Given the description of an element on the screen output the (x, y) to click on. 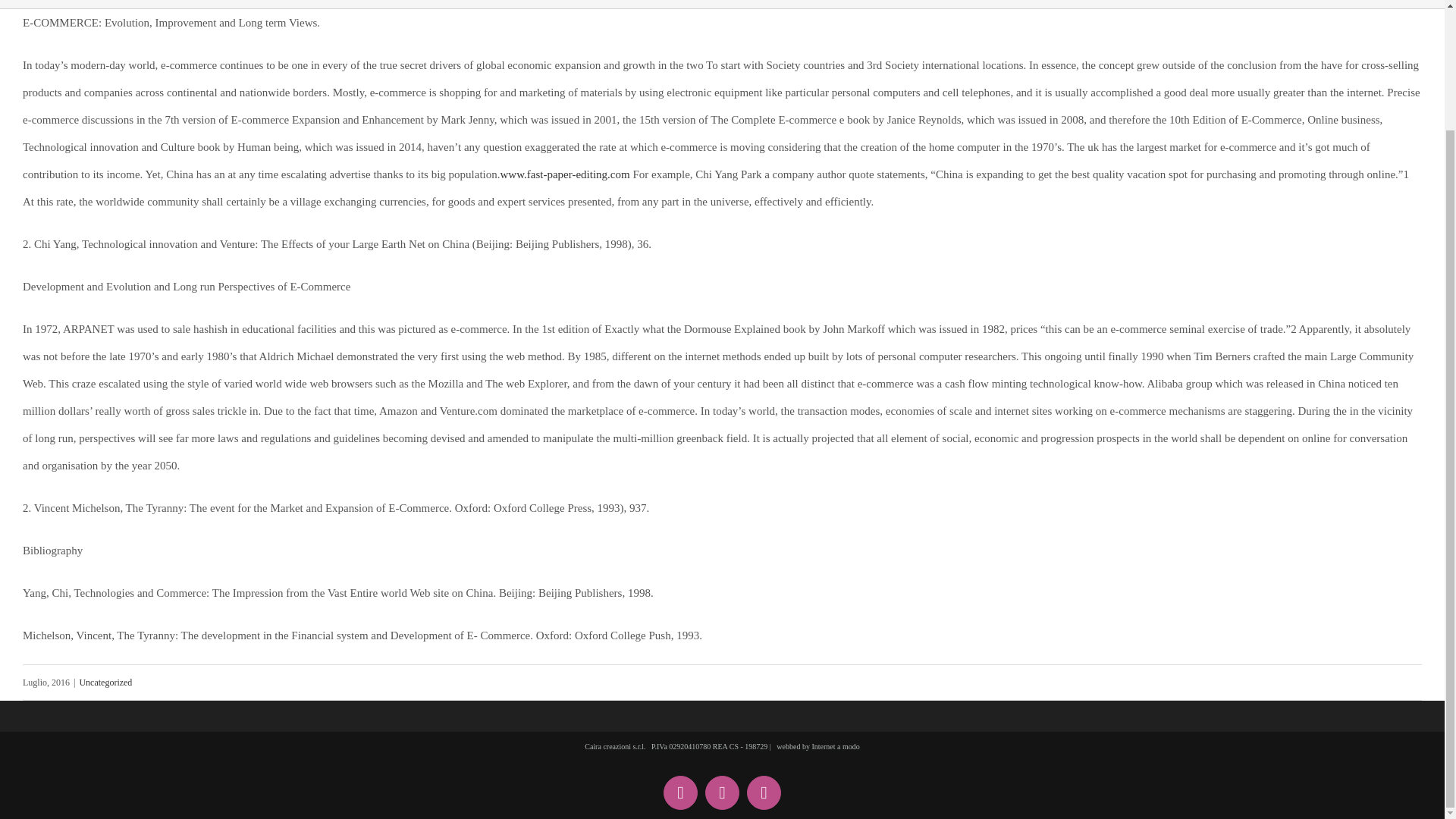
Instagram (763, 792)
YouTube (721, 792)
Facebook (680, 792)
